Given the description of an element on the screen output the (x, y) to click on. 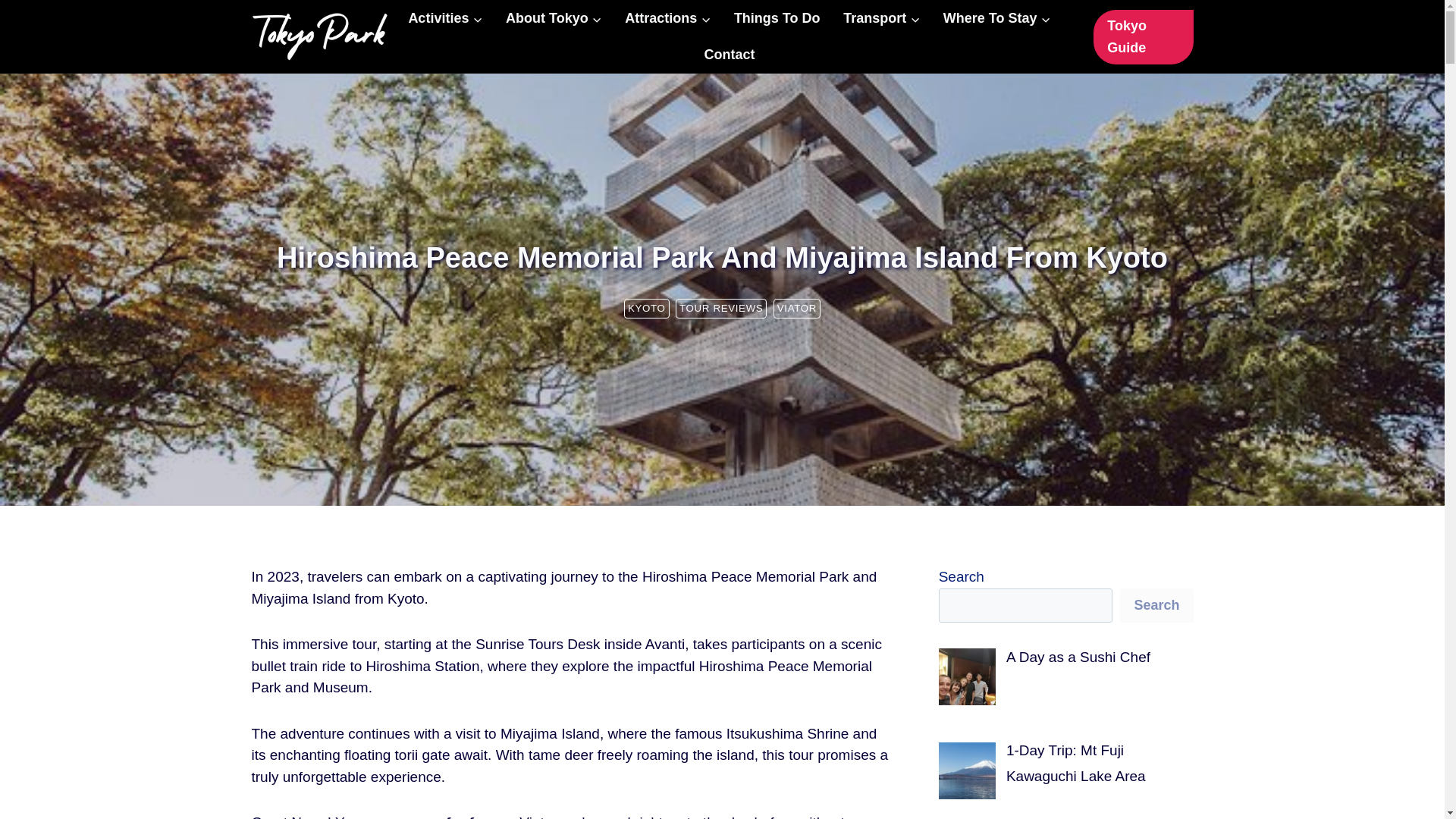
Things To Do (776, 18)
About Tokyo (553, 18)
Activities (445, 18)
Where To Stay (996, 18)
Transport (881, 18)
Attractions (667, 18)
